Given the description of an element on the screen output the (x, y) to click on. 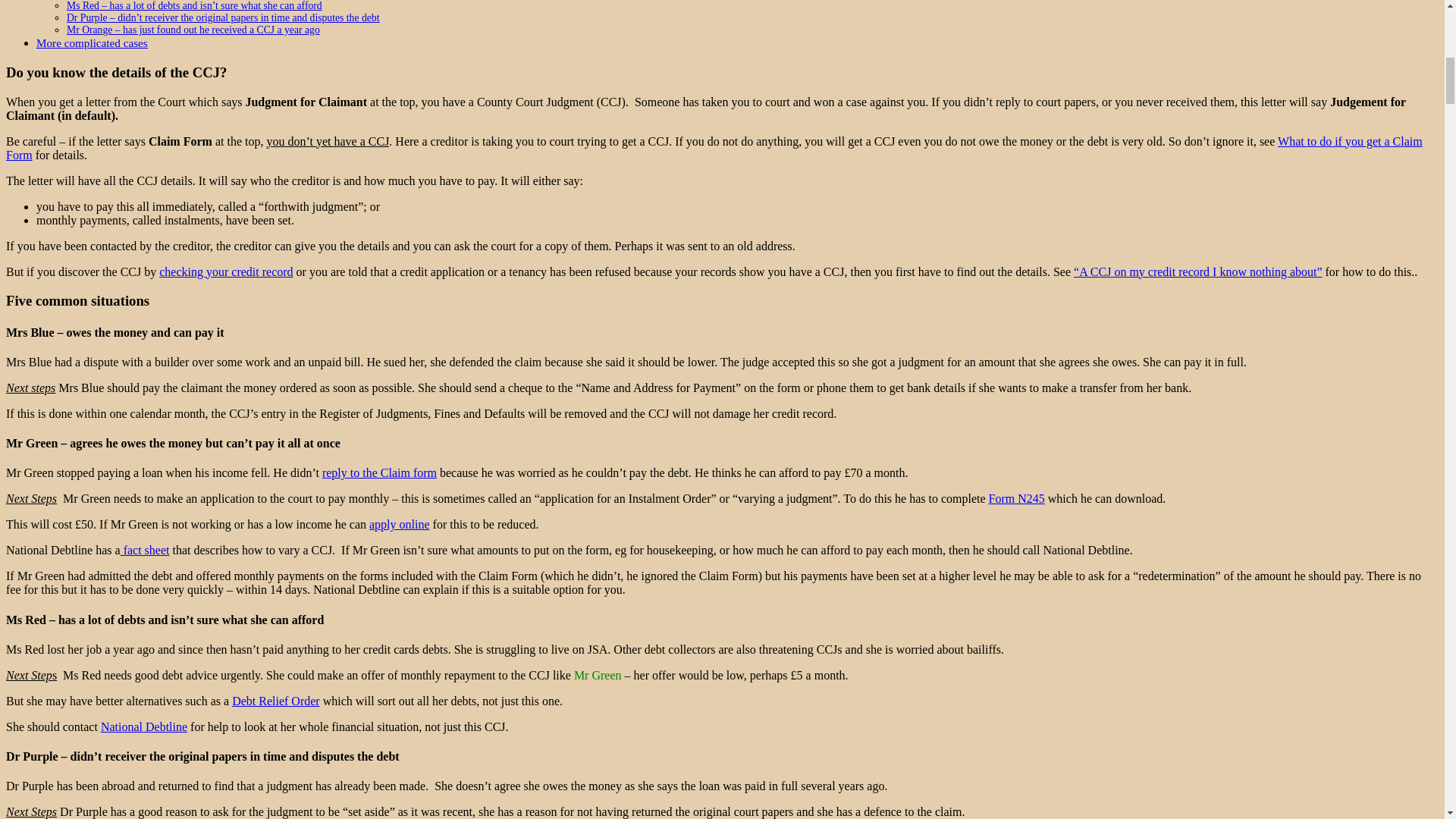
What to do if you get a Claim Form (713, 148)
More complicated cases (92, 42)
More complicated cases (92, 42)
checking your credit record (225, 271)
What to do if you get a Claim Form (378, 472)
